Given the description of an element on the screen output the (x, y) to click on. 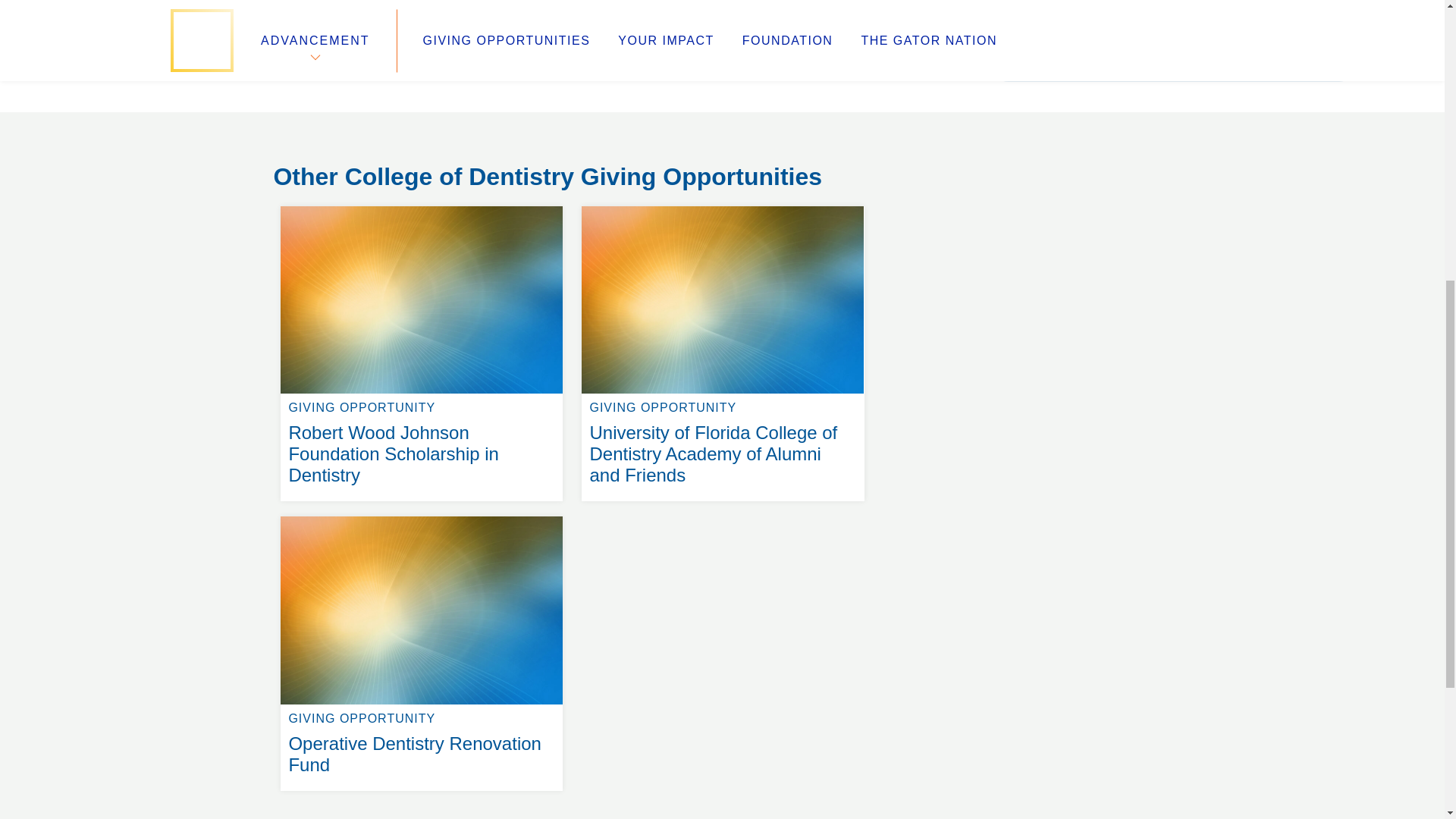
Join Our Team (317, 127)
Privacy Policy (545, 163)
Advancement Toolkit (565, 145)
Staff Directory (316, 145)
Contact Us (306, 181)
University of Florida (840, 127)
Foundation Board (327, 163)
Advancement HUB (421, 516)
Complete My Gift (560, 127)
Disclosures (1173, 48)
